Given the description of an element on the screen output the (x, y) to click on. 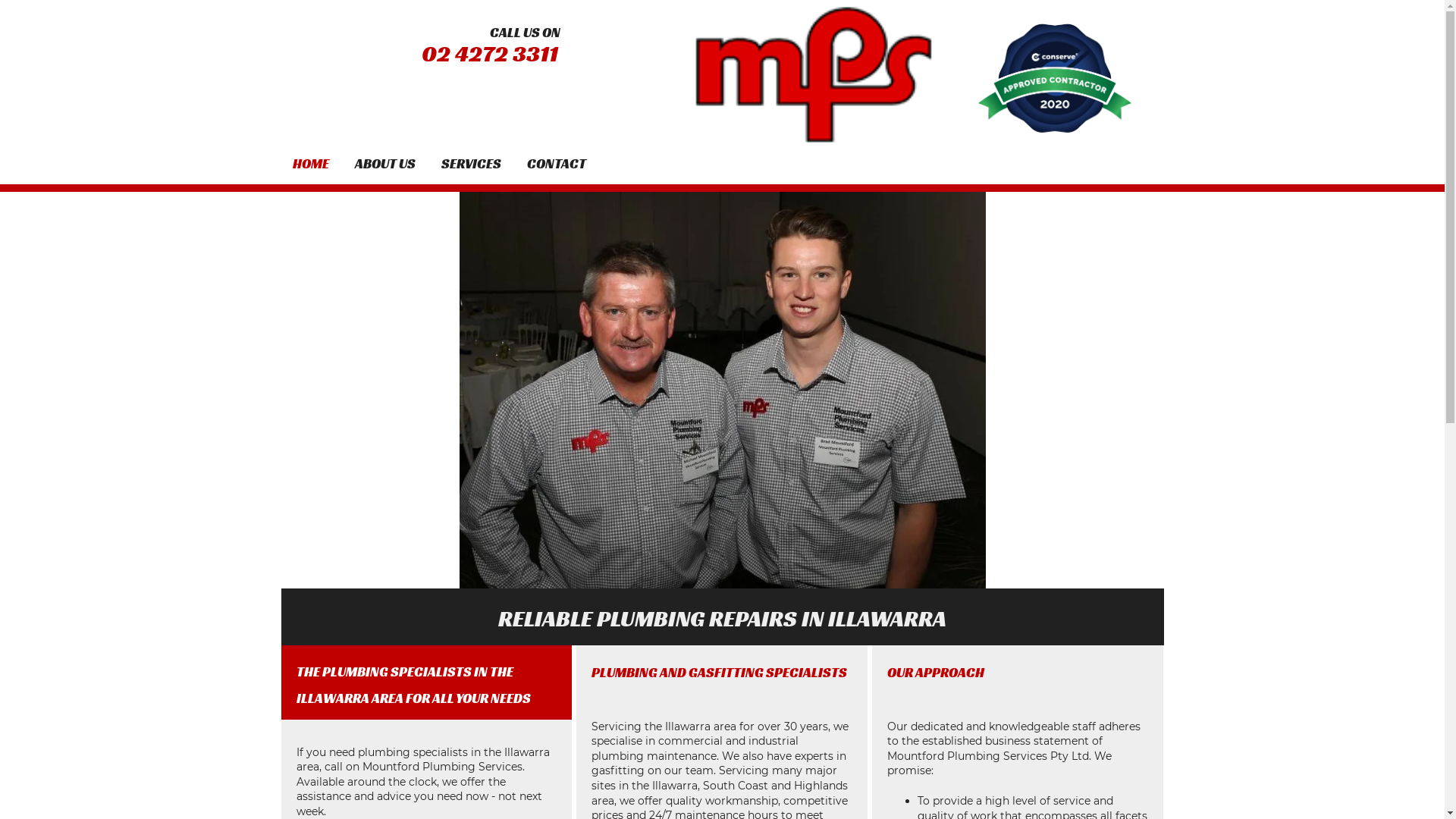
SERVICES Element type: text (471, 163)
02 4272 3311 Element type: text (489, 53)
HOME Element type: text (310, 163)
ABOUT US Element type: text (384, 163)
CONTACT Element type: text (555, 163)
plumber-tools-hero-image Element type: hover (722, 389)
